Given the description of an element on the screen output the (x, y) to click on. 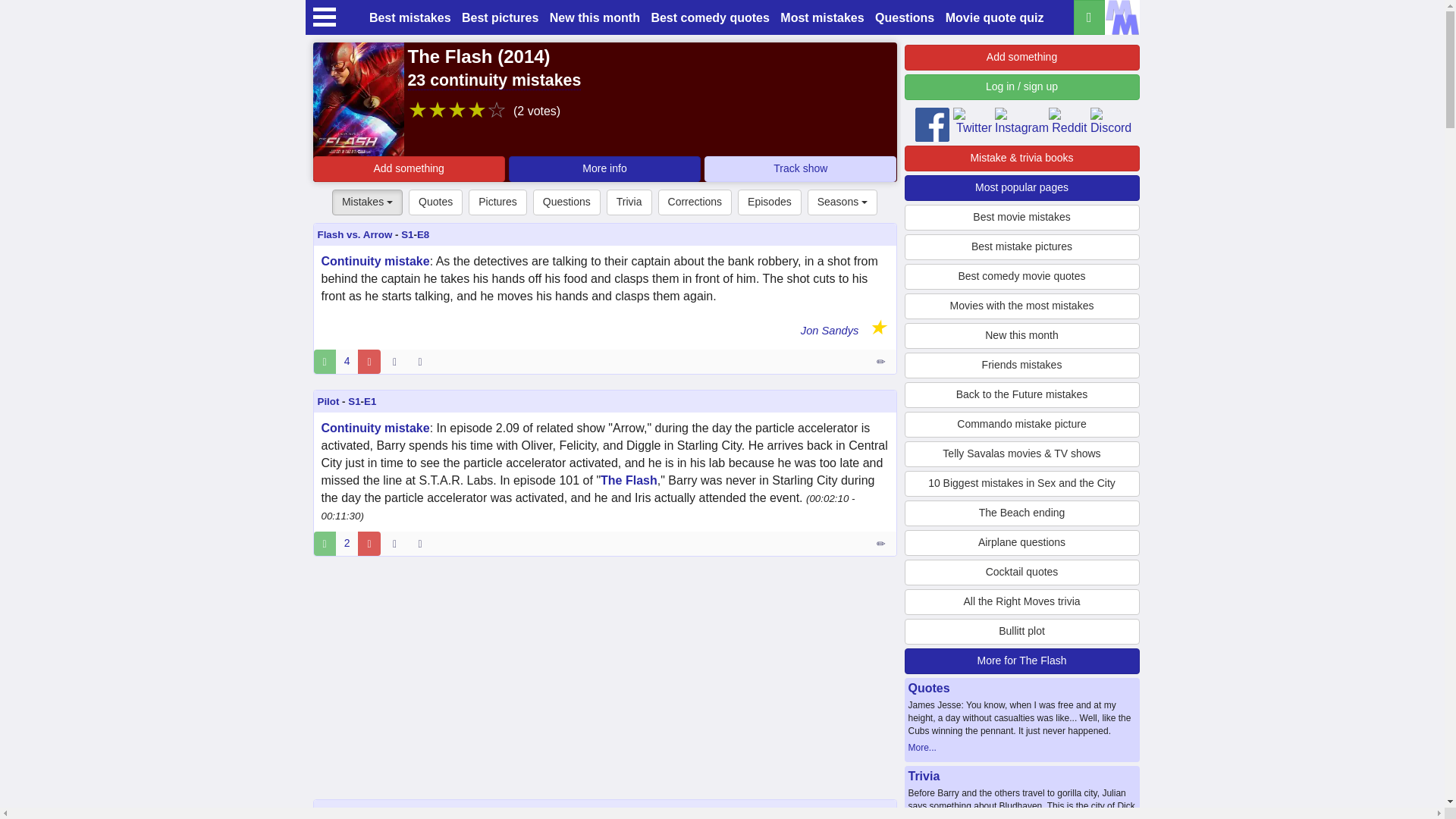
I dislike this (369, 543)
ID 208703: 3rd December 2014 (395, 361)
Entry 208703 (881, 361)
The Flash on next-episode.net (800, 168)
I dislike this (369, 361)
Share this entry (423, 543)
ID 218719: 21st December 2015 (395, 543)
Entry 218719 (881, 543)
Share this entry (423, 361)
I like this (325, 361)
I like this (325, 543)
